Given the description of an element on the screen output the (x, y) to click on. 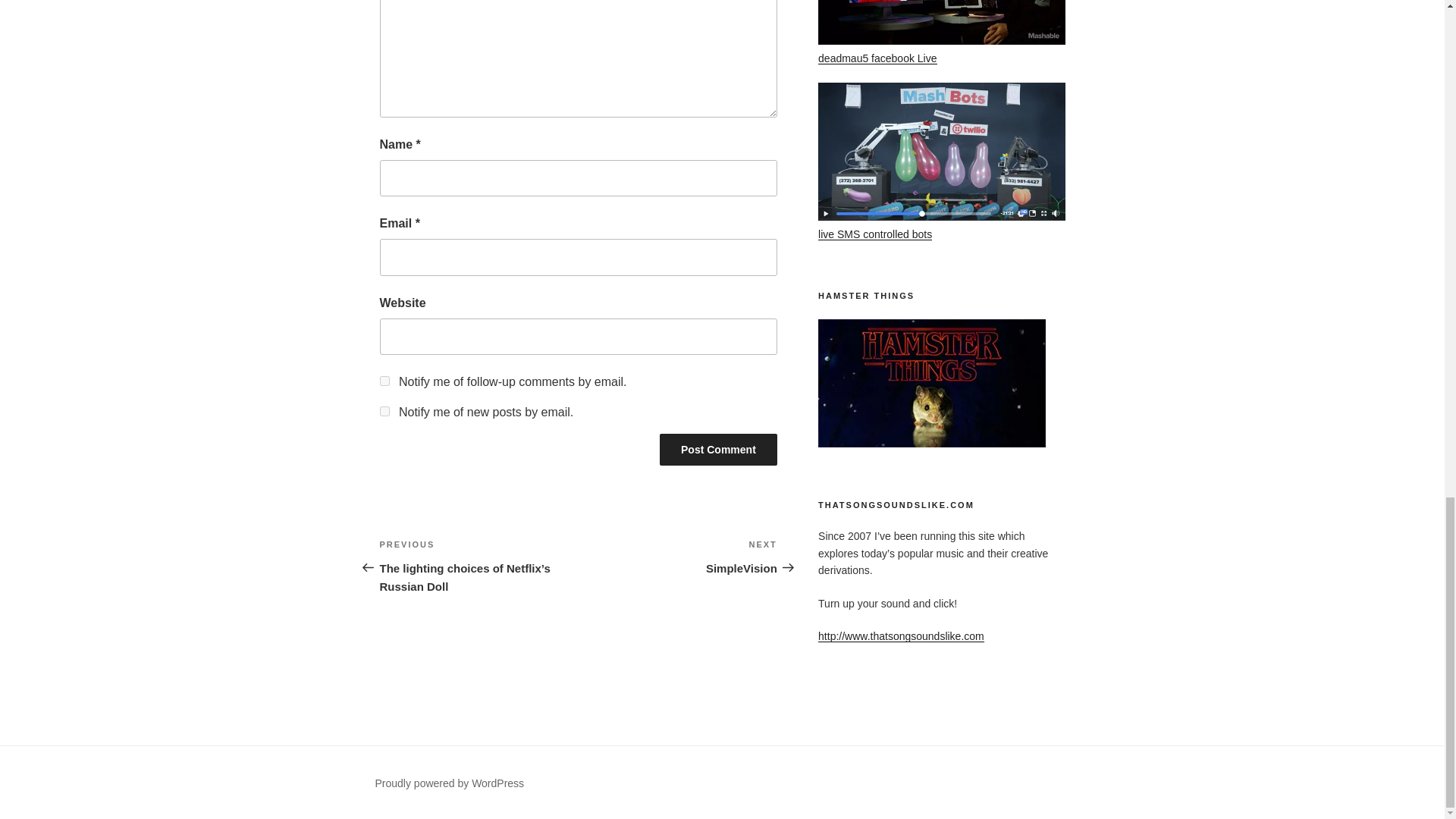
Proudly powered by WordPress (449, 783)
subscribe (383, 380)
subscribe (383, 411)
Post Comment (718, 450)
deadmau5 facebook Live (877, 58)
Post Comment (677, 556)
live SMS controlled bots (718, 450)
